Given the description of an element on the screen output the (x, y) to click on. 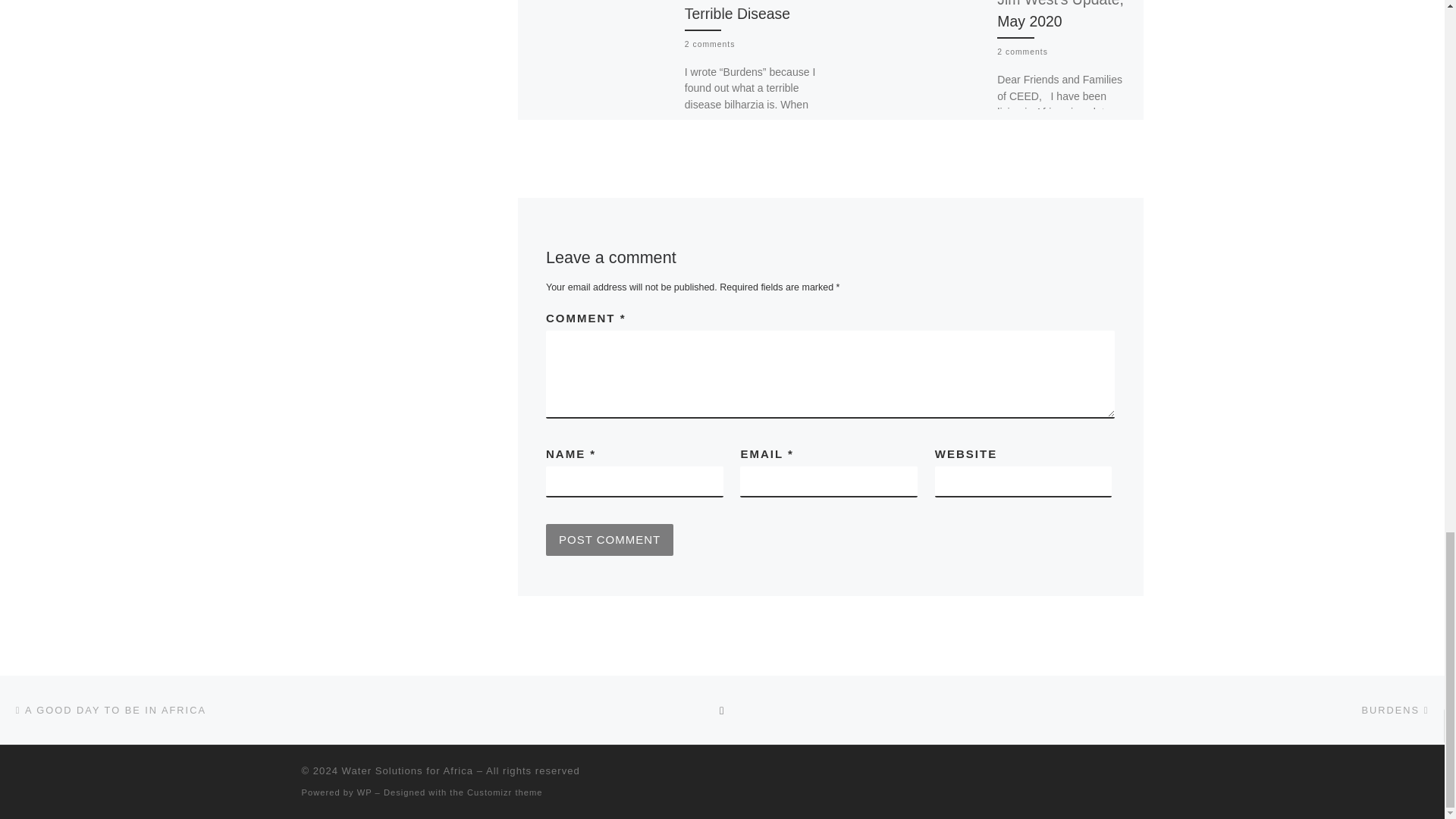
Post Comment (609, 552)
